Given the description of an element on the screen output the (x, y) to click on. 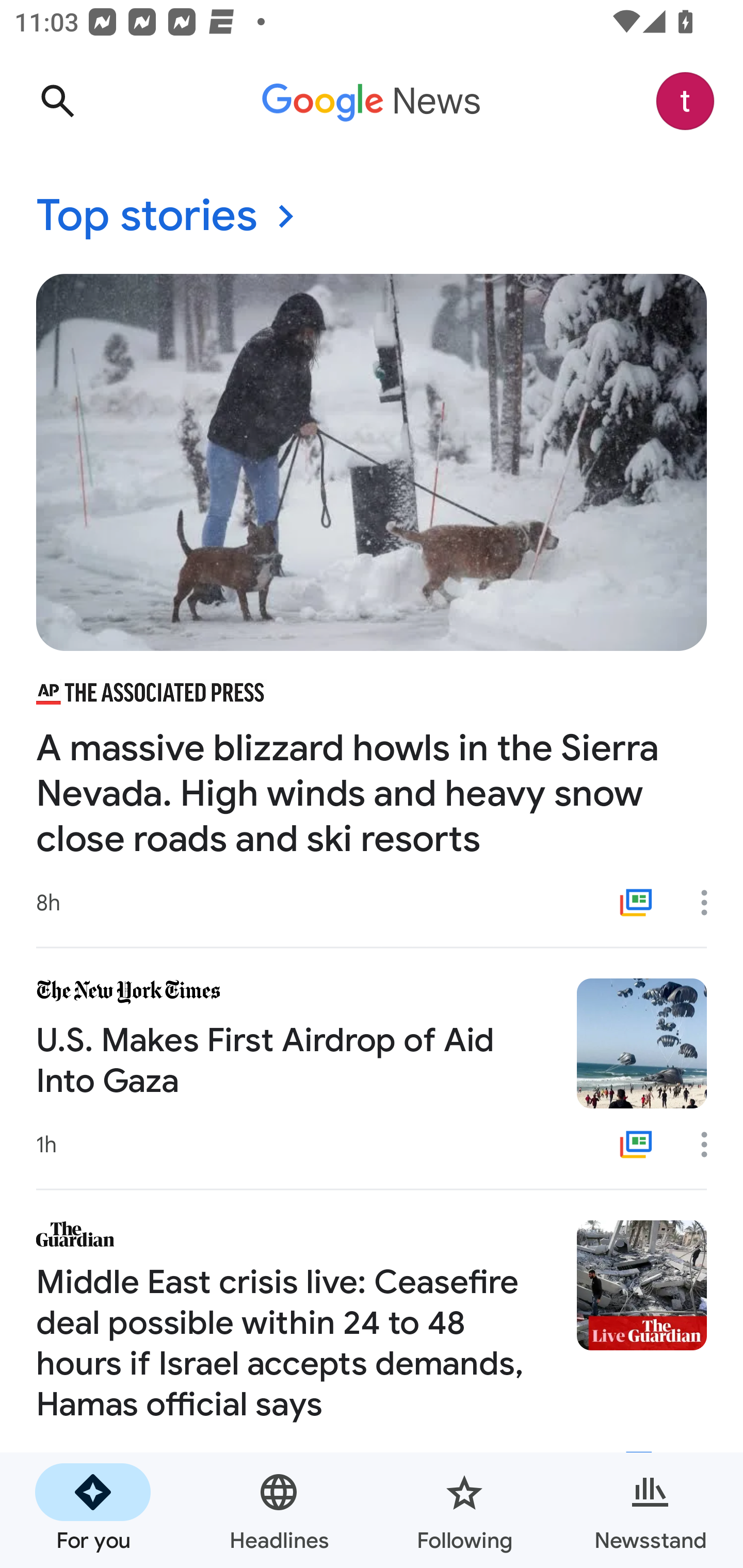
Search (57, 100)
Top stories (371, 216)
More options (711, 902)
More options (711, 1144)
For you (92, 1509)
Headlines (278, 1509)
Following (464, 1509)
Newsstand (650, 1509)
